Given the description of an element on the screen output the (x, y) to click on. 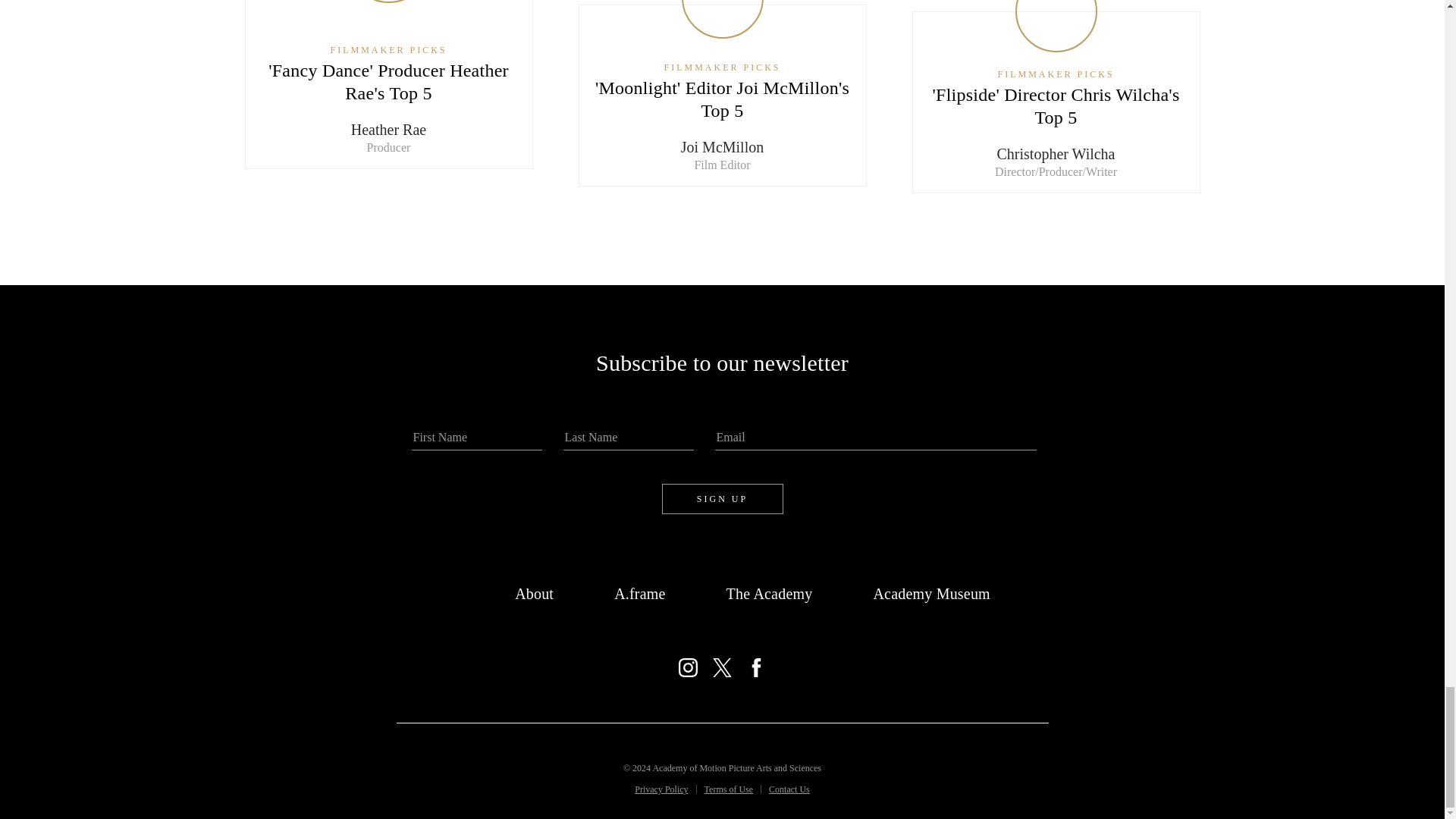
Email (874, 437)
A.frame (639, 593)
'Flipside' Director Chris Wilcha's Top 5 (1055, 106)
Privacy Policy (661, 789)
Last Name (627, 437)
SIGN UP (722, 499)
Terms of Use (728, 789)
'Fancy Dance' Producer Heather Rae's Top 5 (387, 81)
Academy Museum (931, 593)
FILMMAKER PICKS (1056, 74)
